Given the description of an element on the screen output the (x, y) to click on. 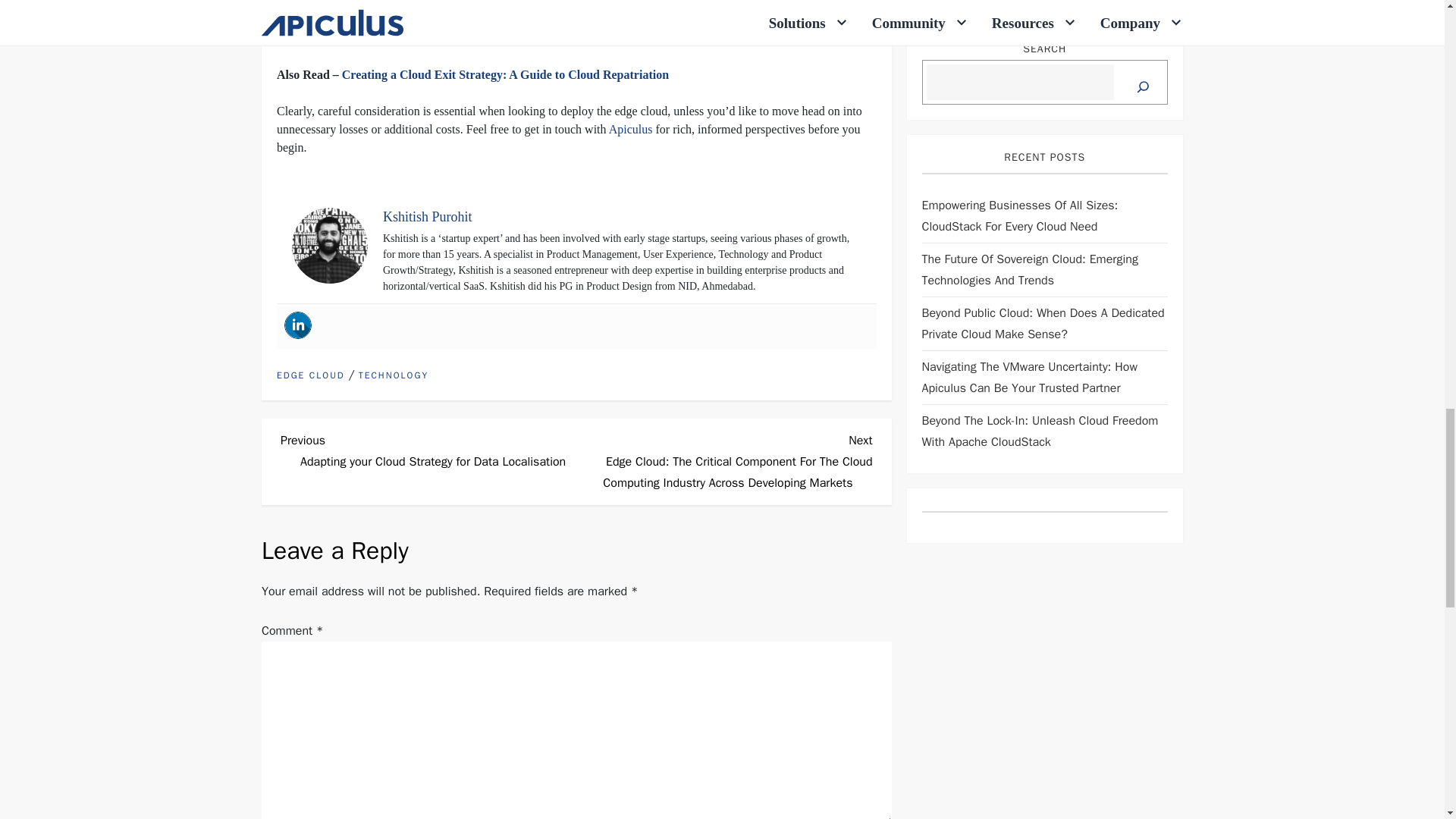
Linkedin (297, 325)
Kshitish Purohit (426, 216)
EDGE CLOUD (310, 376)
TECHNOLOGY (393, 376)
Apiculus (630, 128)
